Given the description of an element on the screen output the (x, y) to click on. 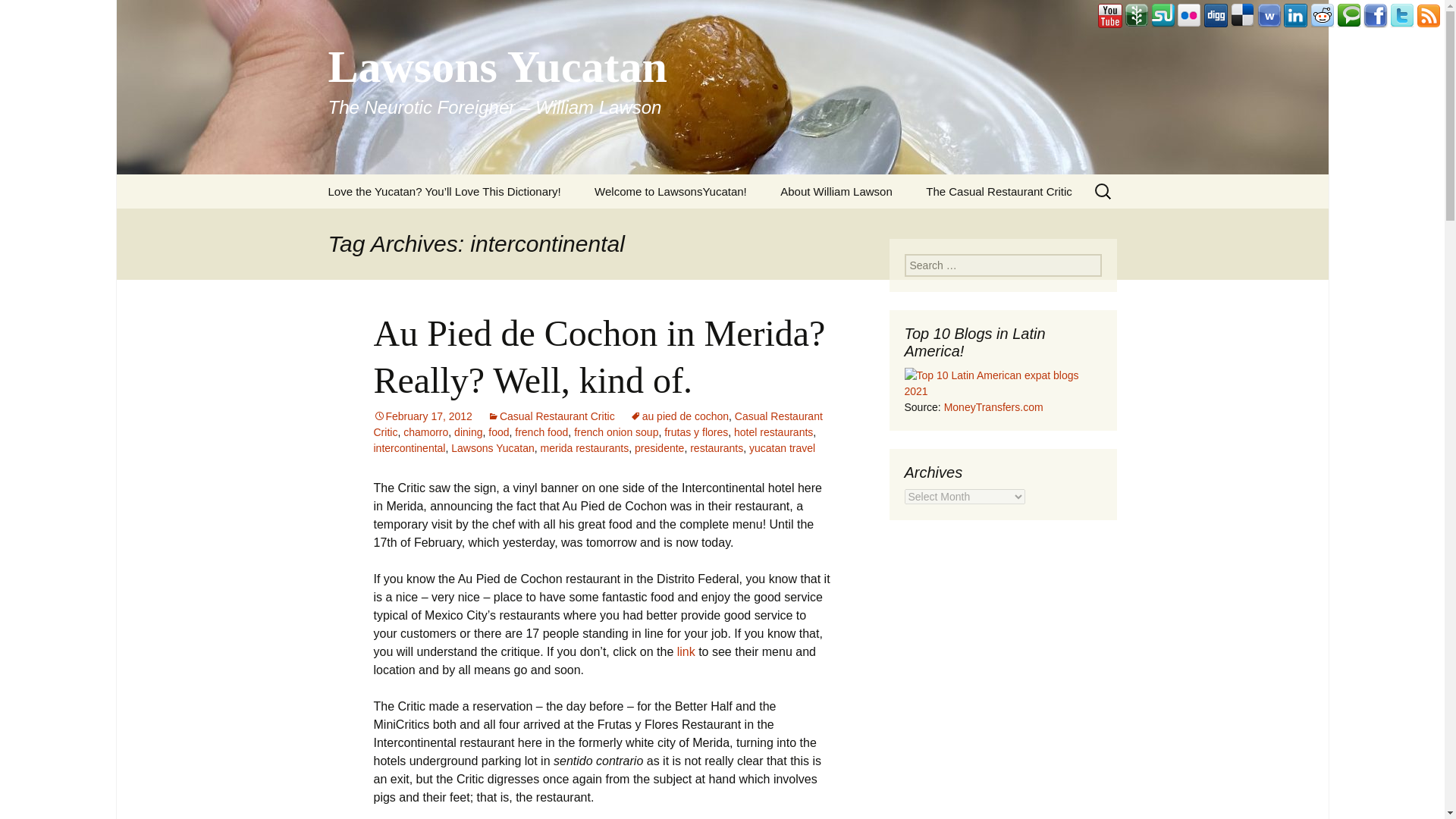
Skip to content (353, 183)
Reddit (1322, 15)
Au Pied de Cochon in Merida? Really? Well, kind of. (598, 356)
food (497, 431)
yucatan travel (782, 448)
restaurants (716, 448)
au pied de cochon (679, 416)
February 17, 2012 (421, 416)
About William Lawson (836, 191)
merida restaurants (584, 448)
Subscribe (1428, 15)
Share it On Technorati (1348, 15)
Share it on Linkedin (1295, 15)
hotel restaurants (772, 431)
